Given the description of an element on the screen output the (x, y) to click on. 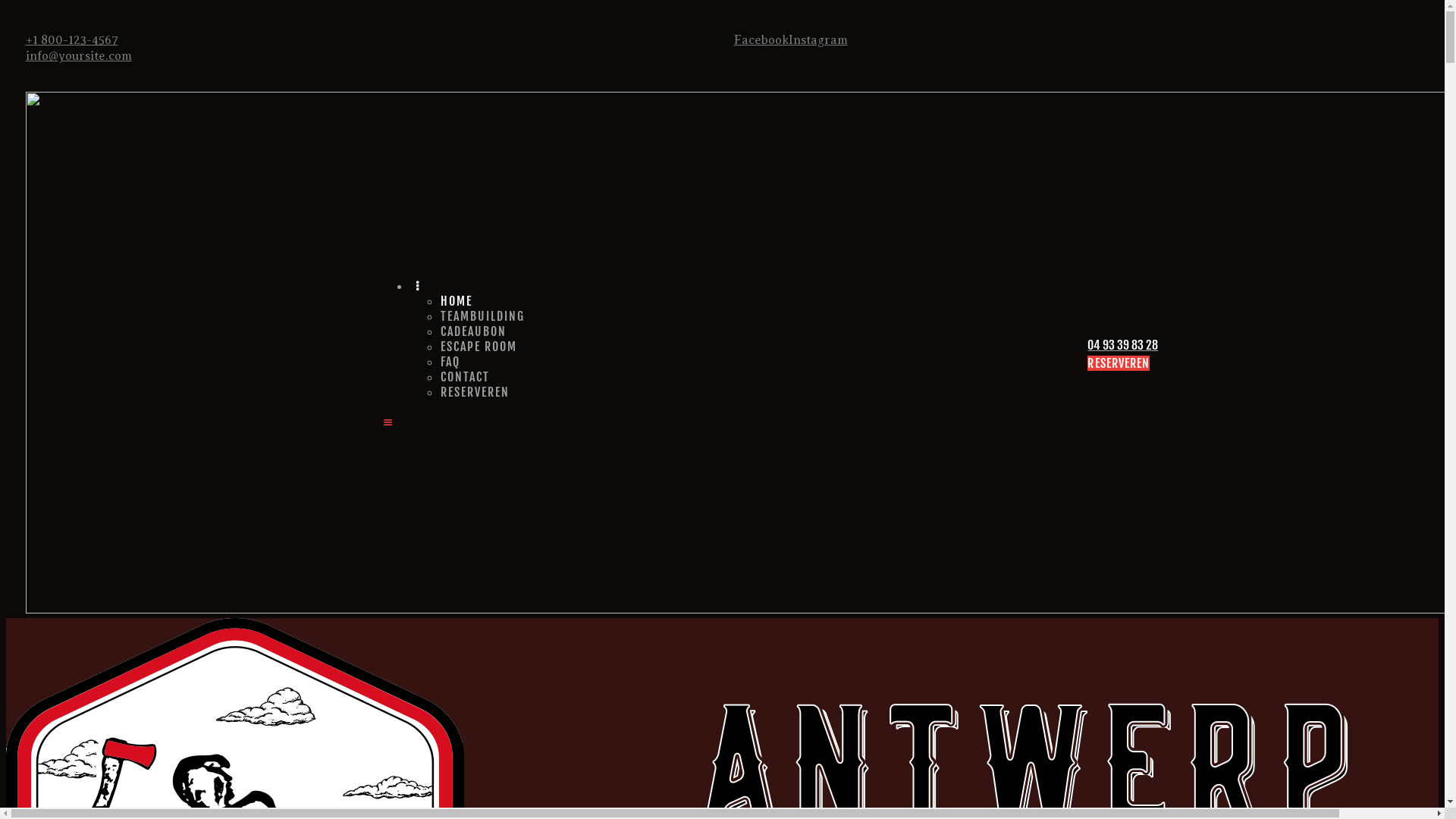
info@yoursite.com Element type: text (78, 55)
04 93 39 83 28 Element type: text (1122, 345)
CADEAUBON Element type: text (473, 330)
TEAMBUILDING Element type: text (482, 315)
RESERVEREN Element type: text (1118, 362)
ESCAPE ROOM Element type: text (478, 346)
Facebook Element type: text (761, 40)
+1 800-123-4567 Element type: text (71, 40)
HOME Element type: text (456, 300)
FAQ Element type: text (450, 361)
CONTACT Element type: text (464, 376)
RESERVEREN Element type: text (474, 391)
Instagram Element type: text (817, 40)
